Given the description of an element on the screen output the (x, y) to click on. 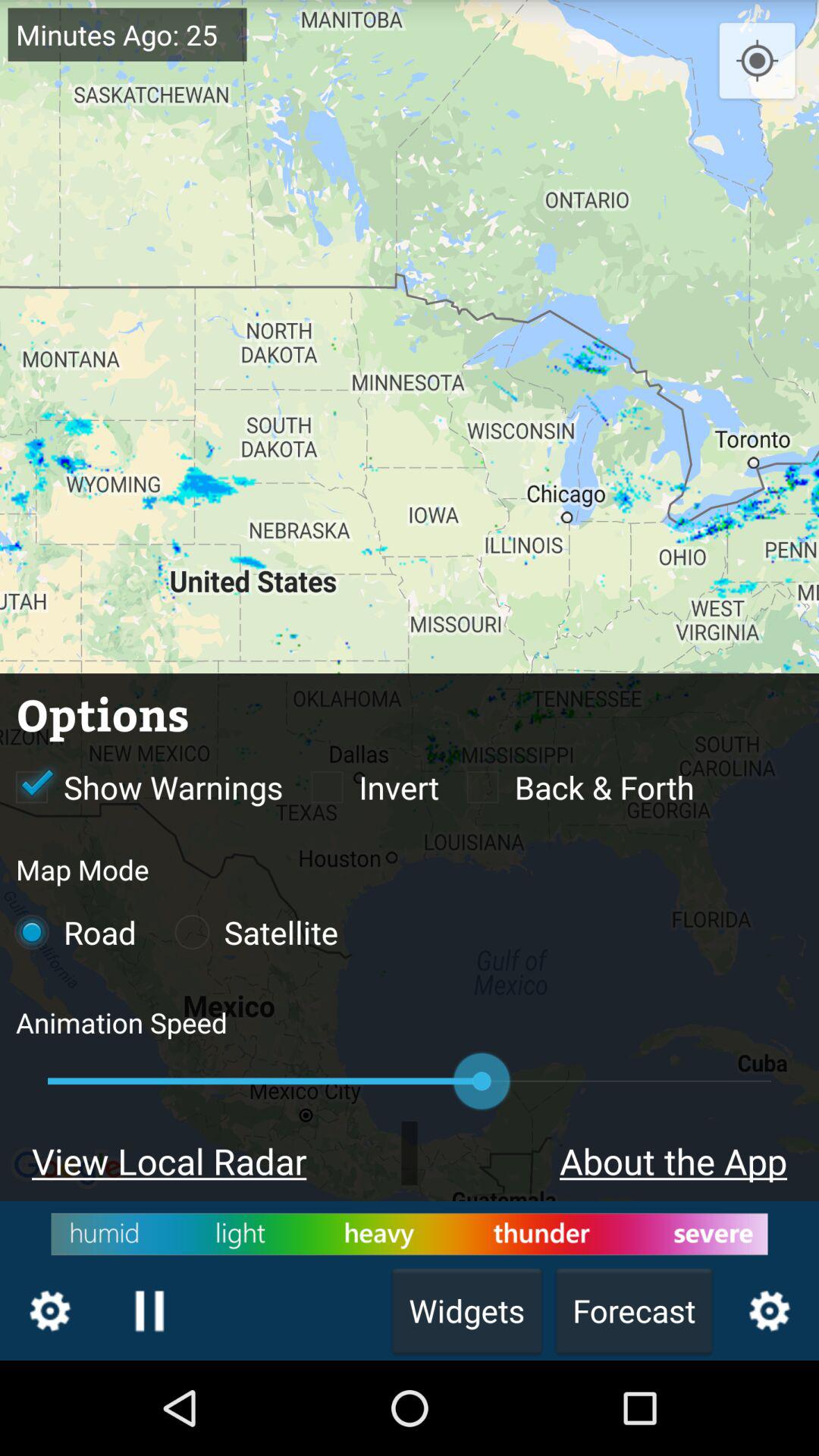
select about the app which is before view local radar on the page (554, 1161)
click invert (366, 786)
click on the text forecast (633, 1309)
click on  back  forth (572, 786)
click the text view local radar (168, 1161)
